Given the description of an element on the screen output the (x, y) to click on. 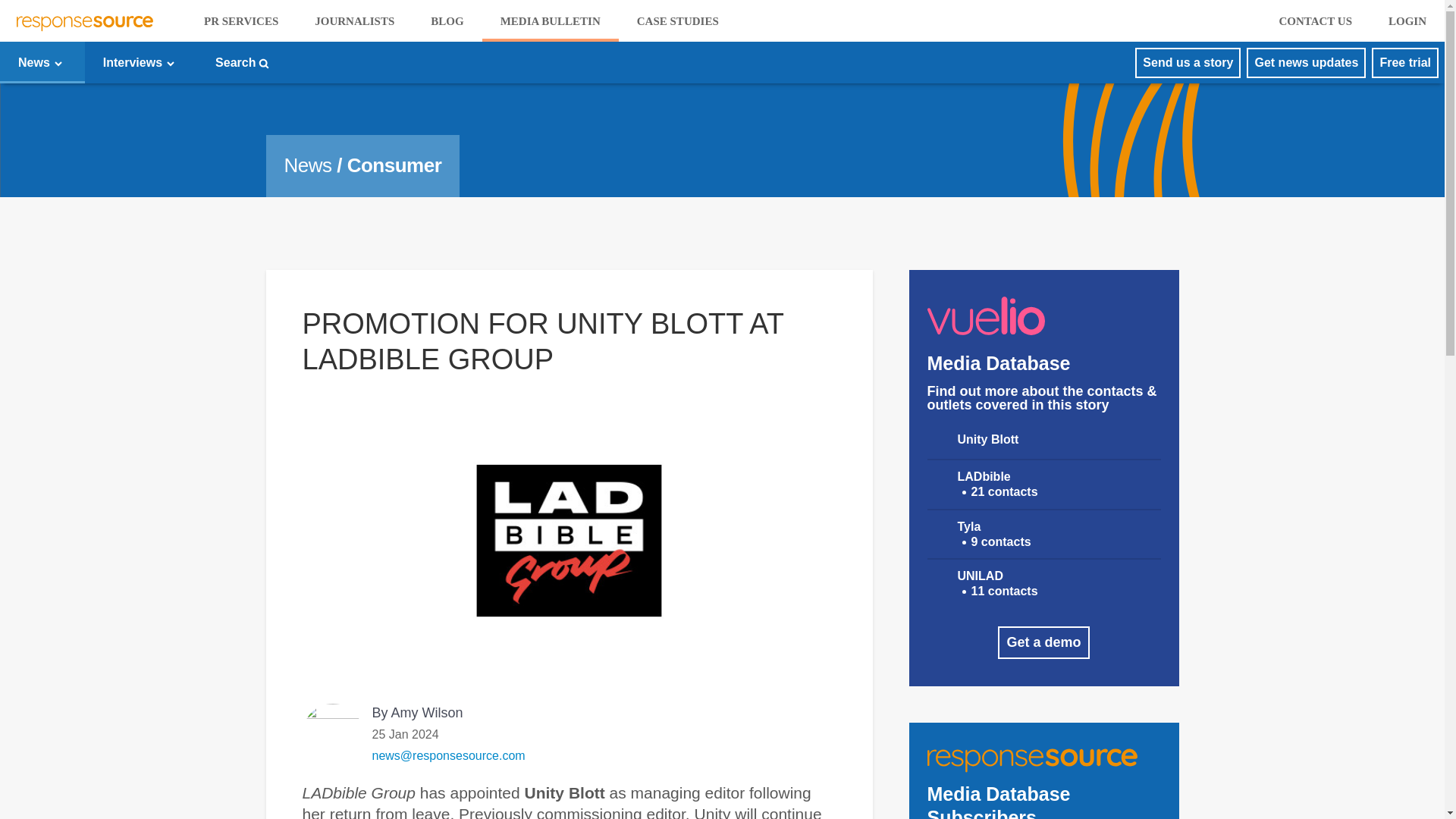
RESPONSESOURCE (85, 20)
CASE STUDIES (677, 20)
Get news updates (1305, 62)
CONTACT US (1315, 20)
PR SERVICES (241, 20)
MEDIA BULLETIN (549, 20)
Interviews (140, 62)
News (42, 62)
JOURNALISTS (354, 20)
Send us a story (1187, 62)
Search (242, 62)
BLOG (446, 20)
Free trial (1404, 62)
